Given the description of an element on the screen output the (x, y) to click on. 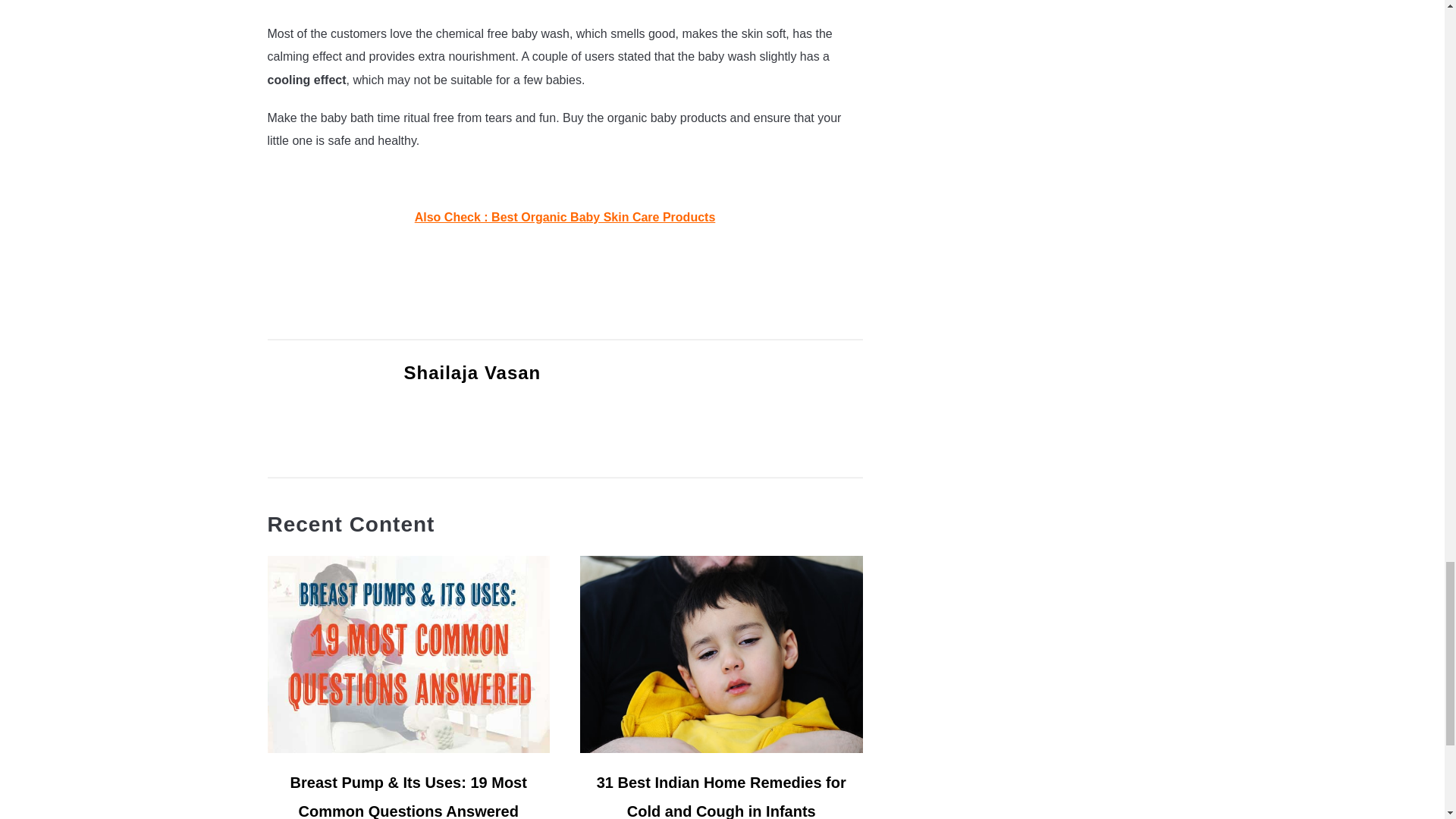
Shailaja Vasan (471, 372)
31 Best Indian Home Remedies for Cold and Cough in Infants (720, 796)
Also Check : Best Organic Baby Skin Care Products (565, 216)
